Given the description of an element on the screen output the (x, y) to click on. 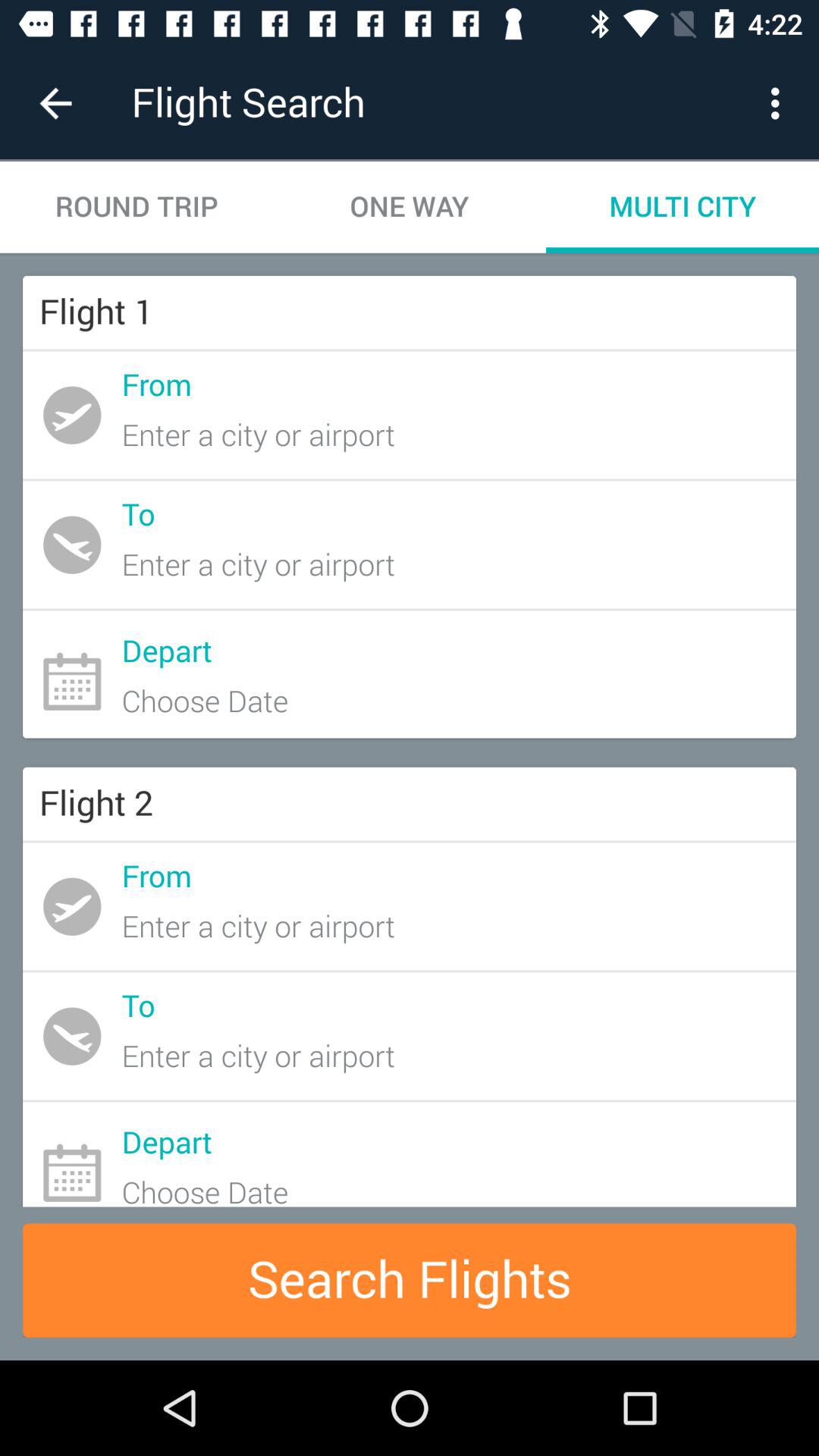
launch the item to the left of one way (136, 207)
